Given the description of an element on the screen output the (x, y) to click on. 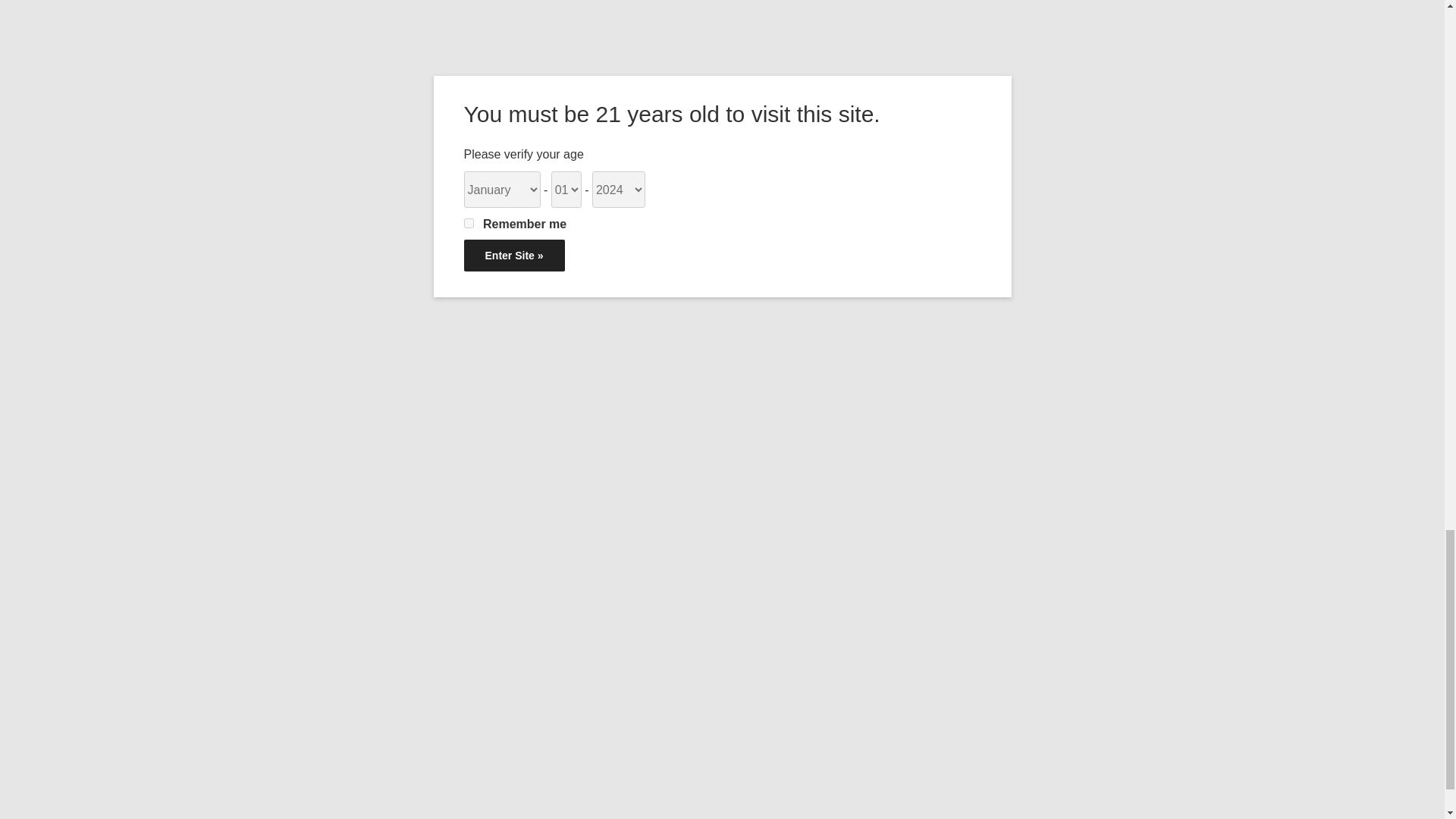
PRIVACY POLICY (418, 539)
Post Comment (718, 124)
MY WORK (400, 472)
Learn how your comment data is processed (573, 175)
Post Comment (718, 124)
TERMS OF USE (414, 571)
CONTACT (399, 505)
